Given the description of an element on the screen output the (x, y) to click on. 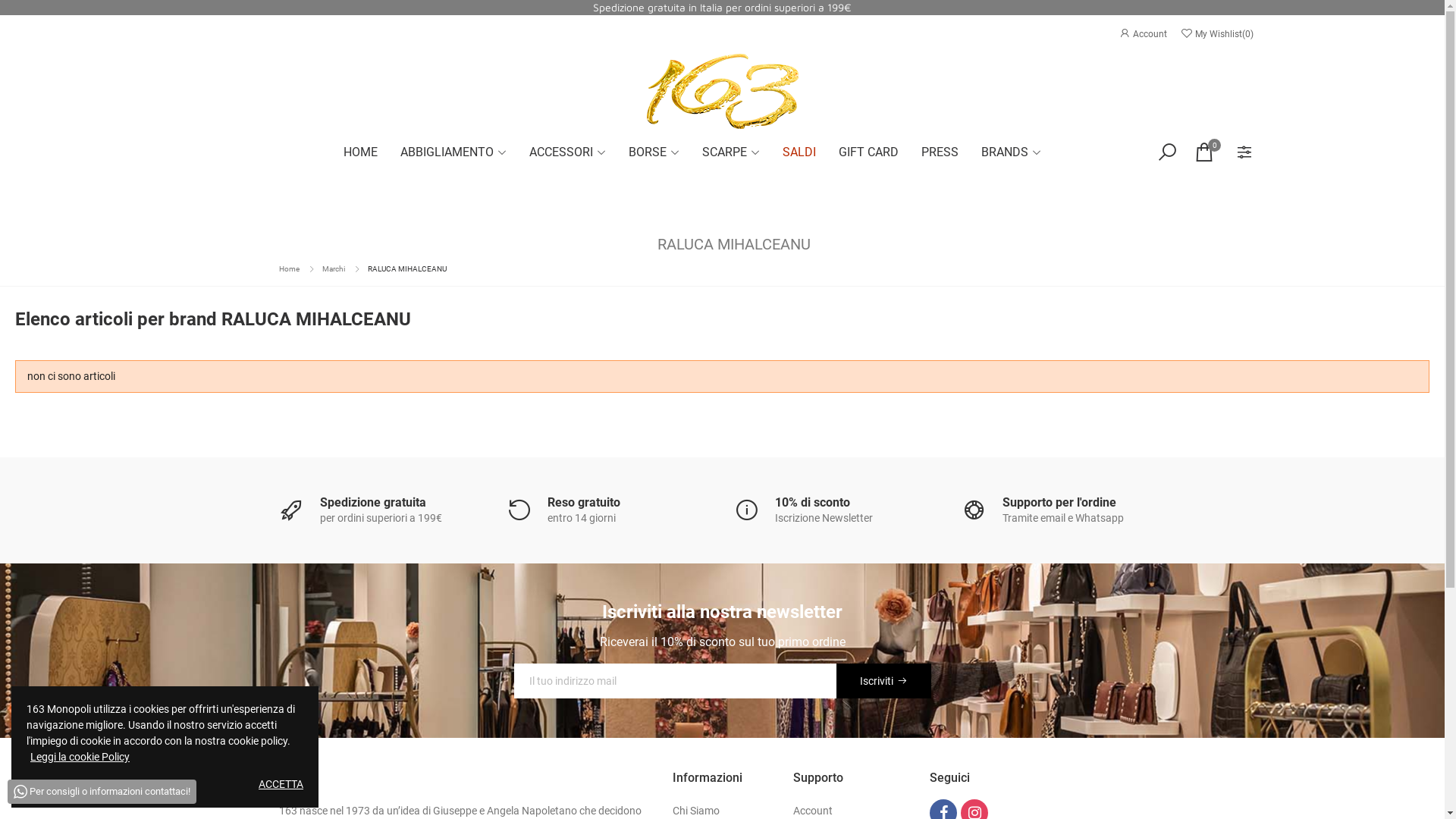
GIFT CARD Element type: text (867, 152)
Cerca Element type: text (1162, 152)
Account Element type: text (812, 809)
PRESS Element type: text (939, 152)
ACCETTA Element type: text (280, 784)
BRANDS Element type: text (1010, 152)
Marchi Element type: text (332, 268)
Home Element type: text (289, 268)
ACCESSORI Element type: text (566, 152)
SCARPE Element type: text (729, 152)
Leggi la cookie Policy Element type: text (79, 756)
Iscriviti Element type: text (882, 679)
Chi Siamo Element type: text (695, 809)
SALDI Element type: text (798, 152)
Account Element type: text (1142, 33)
ABBIGLIAMENTO Element type: text (452, 152)
RALUCA MIHALCEANU Element type: text (406, 268)
Account Element type: text (1238, 152)
My Wishlist(0) Element type: text (1215, 33)
BORSE Element type: text (653, 152)
163 Monopoli Element type: hover (721, 91)
HOME Element type: text (360, 152)
